Given the description of an element on the screen output the (x, y) to click on. 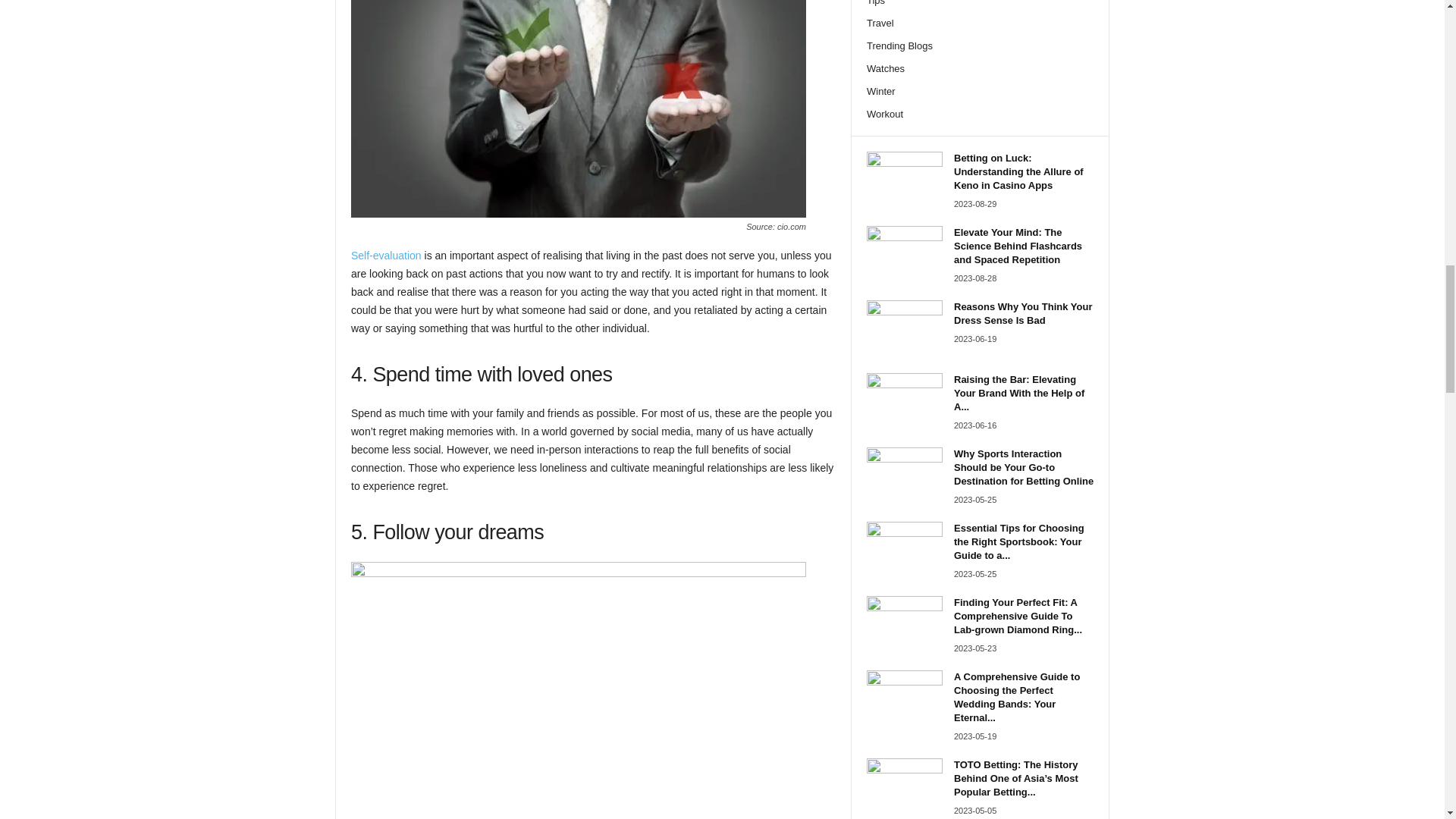
Self-evaluation (386, 255)
